Given the description of an element on the screen output the (x, y) to click on. 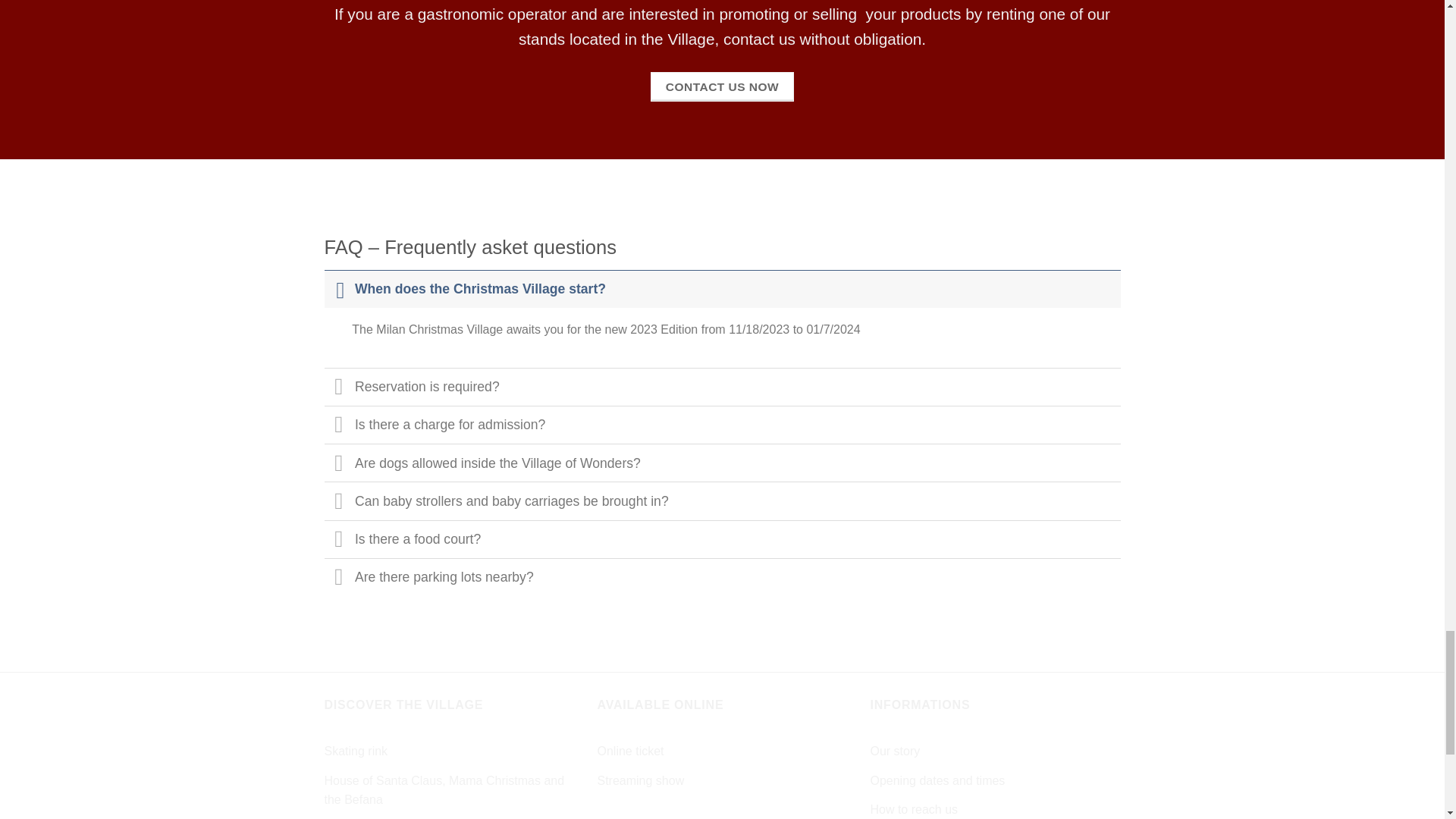
Reservation is required? (722, 386)
Can baby strollers and baby carriages be brought in? (722, 500)
When does the Christmas Village start? (722, 288)
Are dogs allowed inside the Village of Wonders? (722, 462)
Is there a charge for admission? (722, 424)
CONTACT US NOW (721, 86)
